Given the description of an element on the screen output the (x, y) to click on. 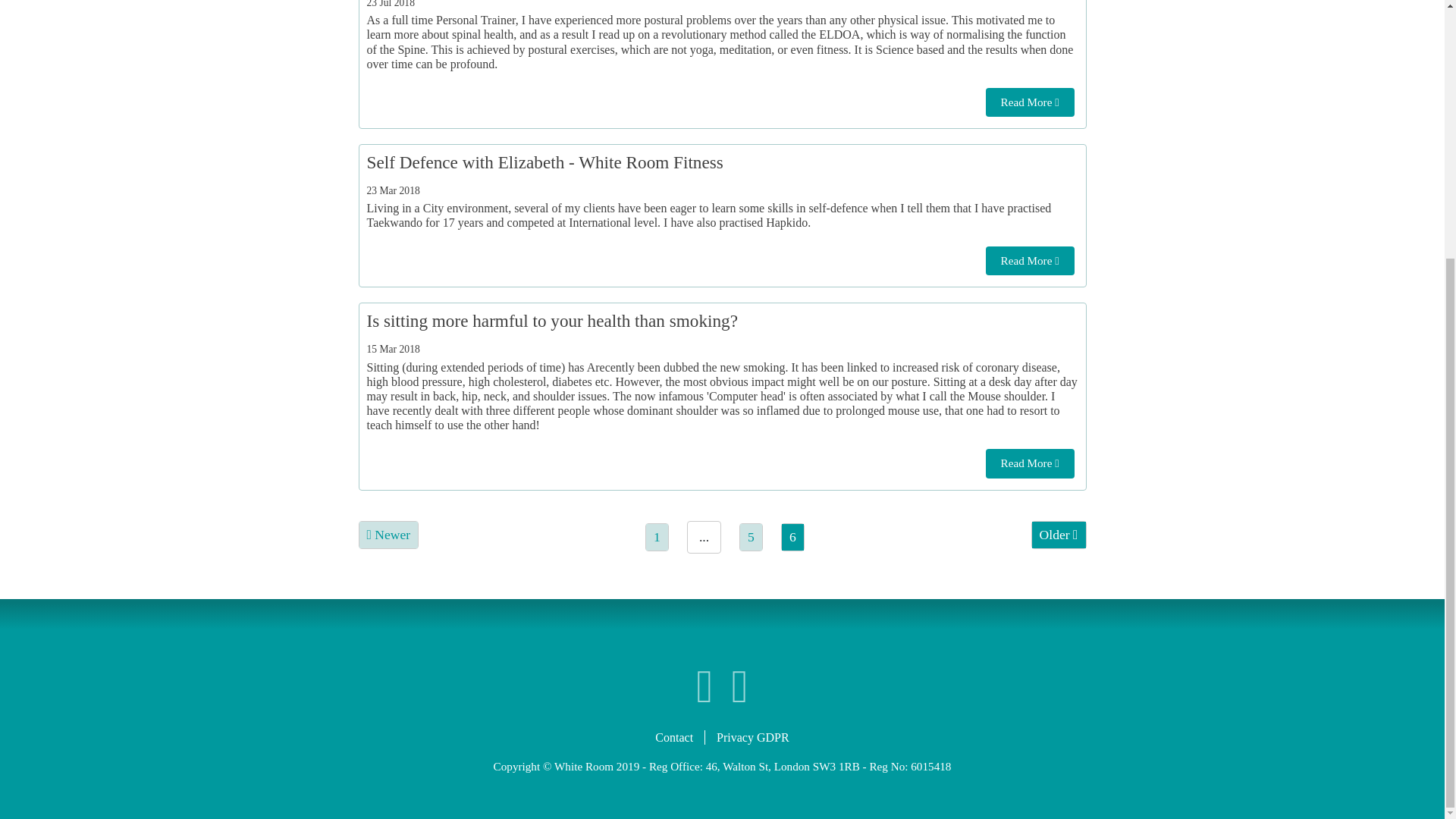
Older (1059, 534)
Newer (389, 534)
